Given the description of an element on the screen output the (x, y) to click on. 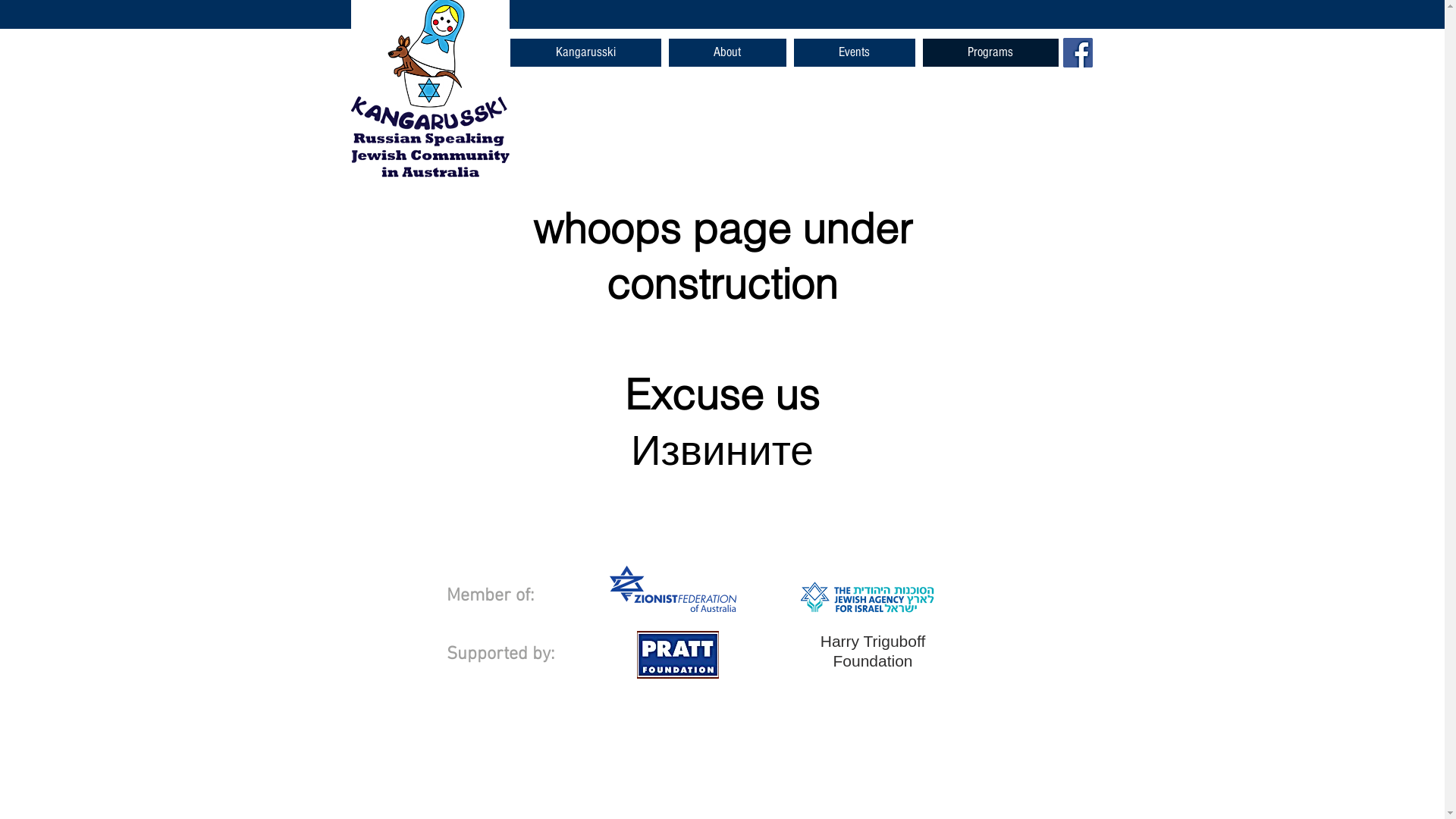
About Element type: text (727, 52)
Events Element type: text (853, 52)
Programs Element type: text (989, 52)
Kangarusski Element type: text (584, 52)
